Given the description of an element on the screen output the (x, y) to click on. 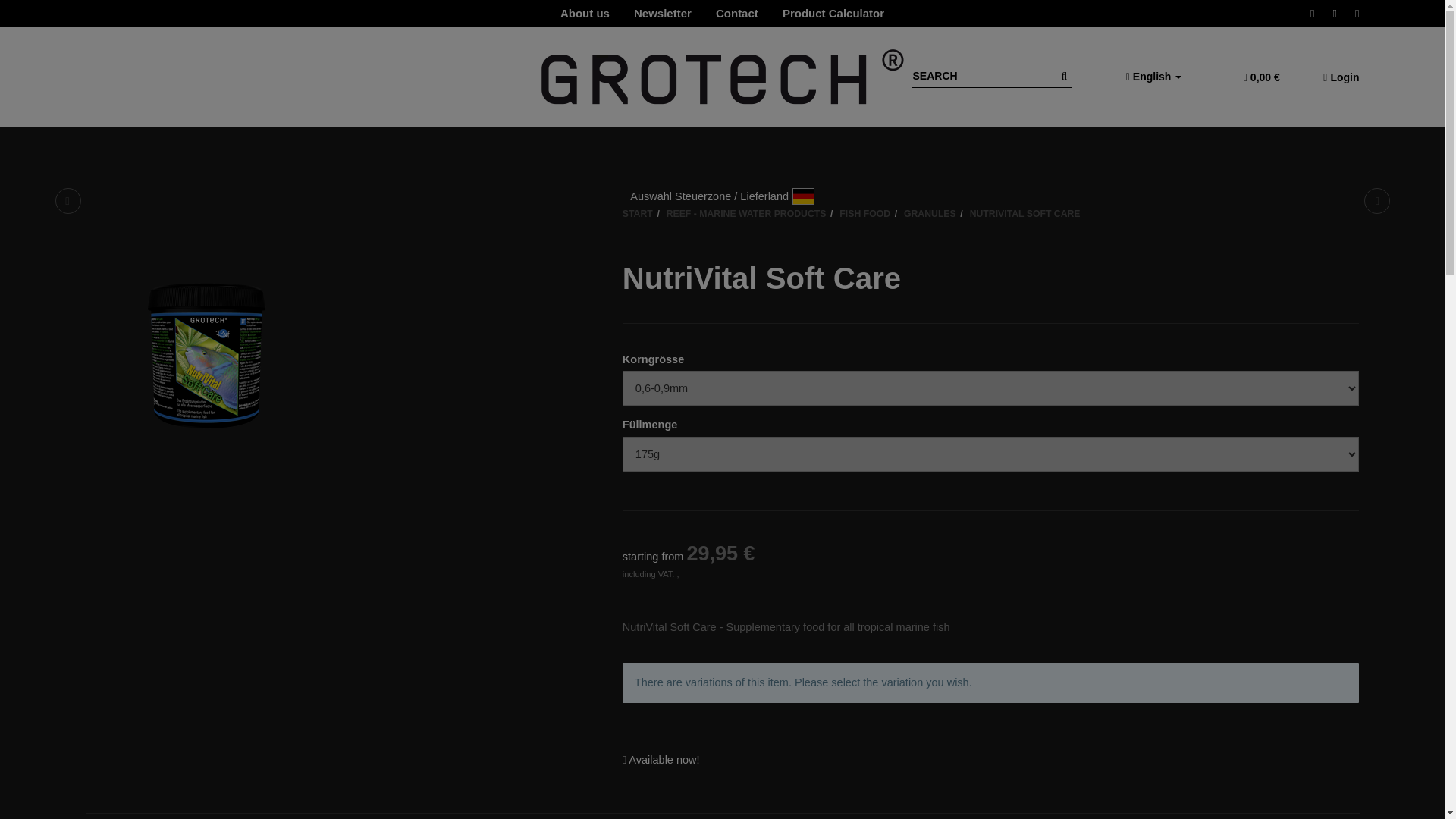
Contact-Form (736, 13)
Newsletter (662, 13)
Please choose a language (1153, 82)
About us (584, 13)
Product Calculator (833, 13)
GROTECH GmbH (722, 83)
Contact (736, 13)
Basket (1261, 82)
Login (1337, 82)
